Given the description of an element on the screen output the (x, y) to click on. 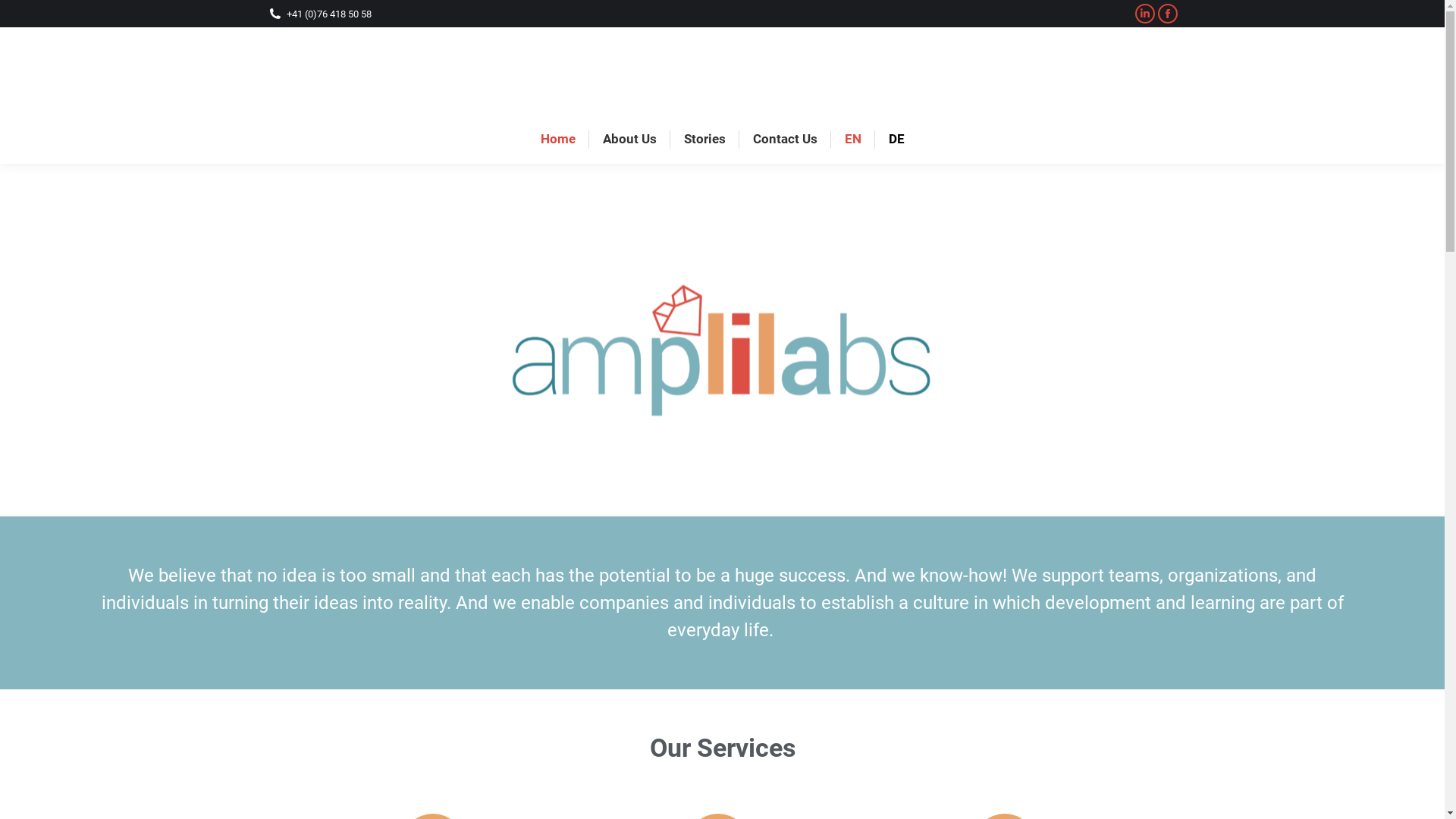
About Us Element type: text (628, 139)
Home Element type: text (556, 139)
Linkedin page opens in new window Element type: hover (1144, 13)
Contact Us Element type: text (784, 139)
EN Element type: text (852, 139)
DE Element type: text (896, 139)
Stories Element type: text (704, 139)
Facebook page opens in new window Element type: hover (1166, 13)
